Given the description of an element on the screen output the (x, y) to click on. 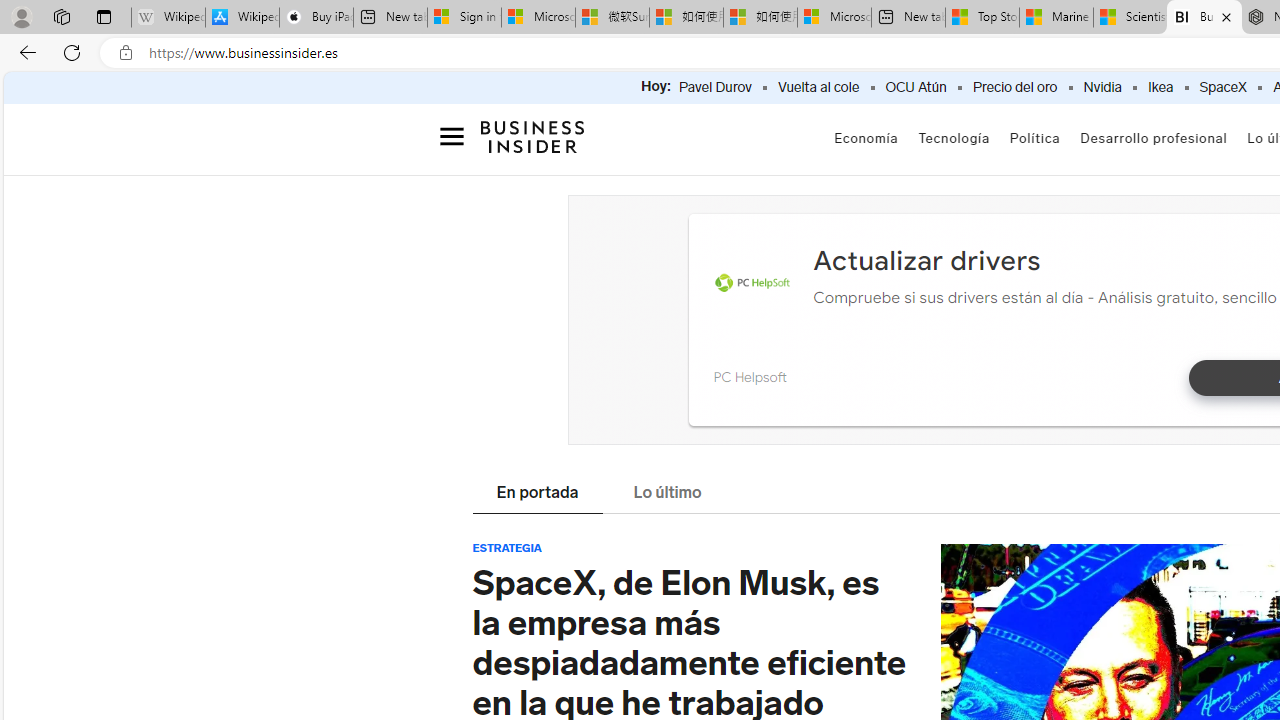
PC Helpsoft (749, 376)
Microsoft account | Account Checkup (834, 17)
Precio del oro (1014, 88)
Nvidia (1102, 88)
Top Stories - MSN (981, 17)
Sign in to your Microsoft account (463, 17)
Microsoft Services Agreement (537, 17)
